Given the description of an element on the screen output the (x, y) to click on. 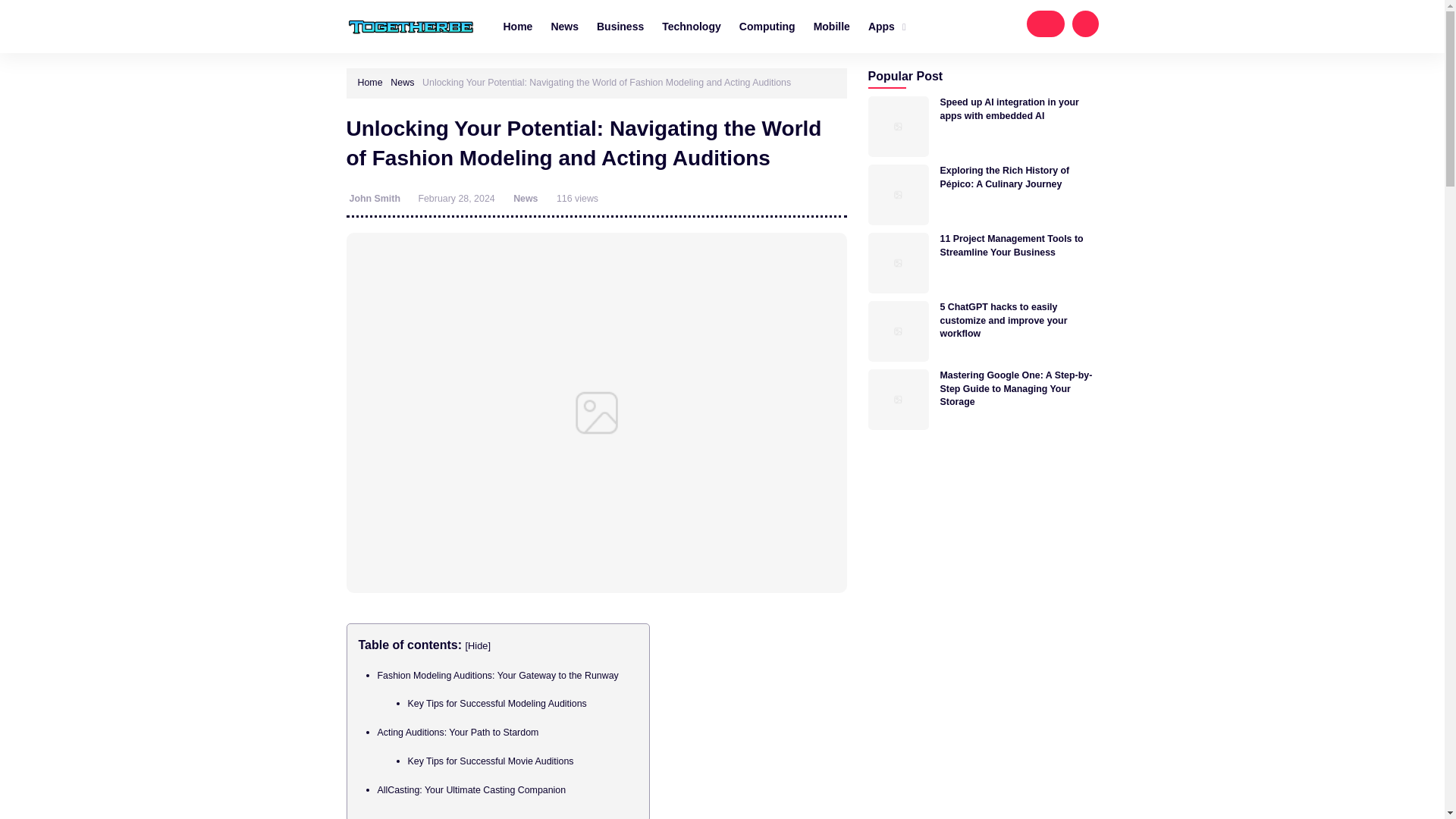
Technology (691, 26)
Computing (767, 26)
Key Tips for Successful Movie Auditions (490, 760)
Key Tips for Successful Modeling Auditions (496, 703)
Apps (887, 26)
News (401, 81)
Home (518, 26)
John Smith (376, 198)
Fashion Modeling Auditions: Your Gateway to the Runway (497, 675)
Business (620, 26)
